Given the description of an element on the screen output the (x, y) to click on. 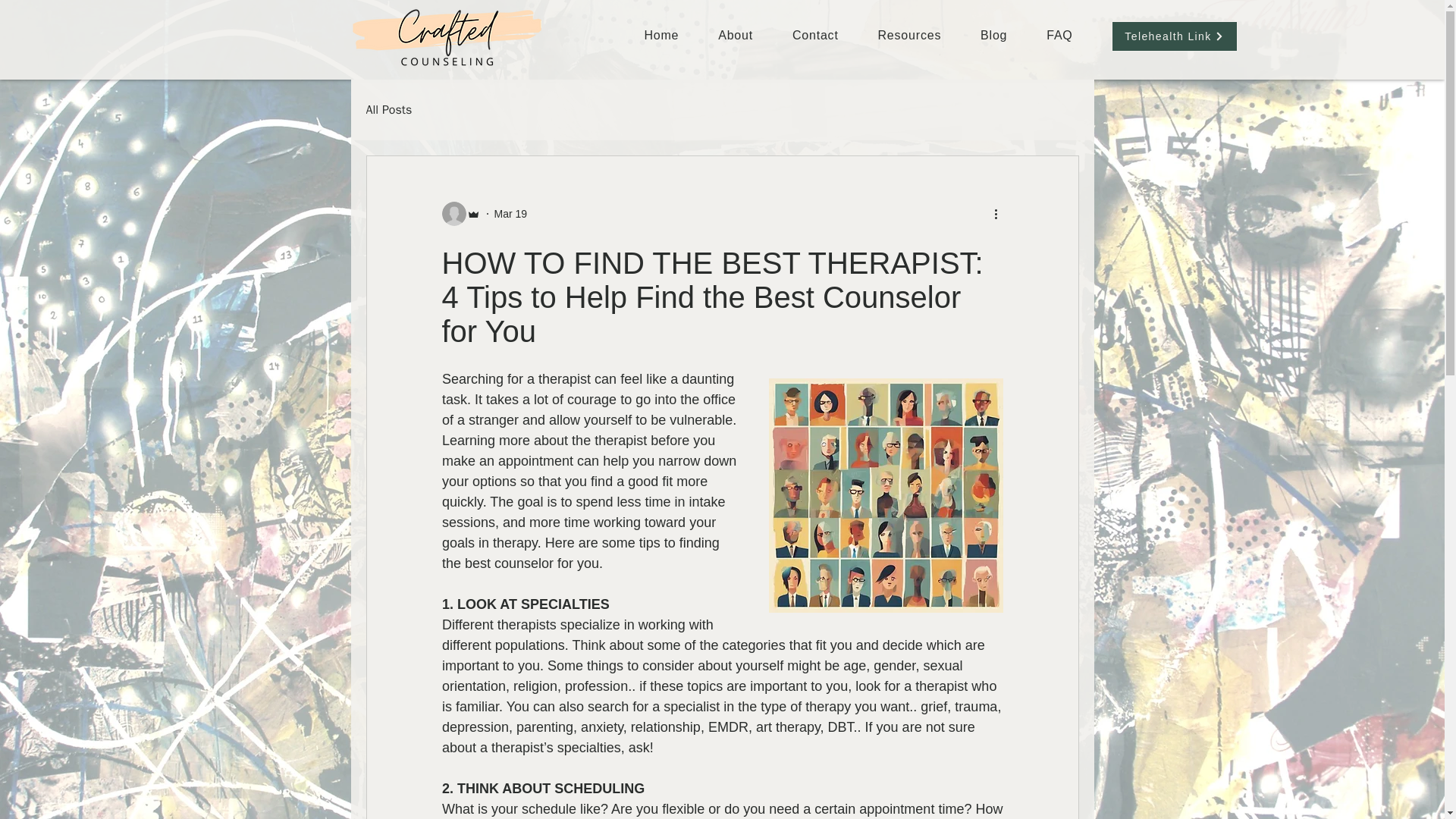
FAQ (1059, 35)
Home (661, 35)
Mar 19 (511, 214)
About (735, 35)
Blog (993, 35)
Telehealth Link (1174, 36)
Resources (909, 35)
Contact (816, 35)
All Posts (388, 109)
